Given the description of an element on the screen output the (x, y) to click on. 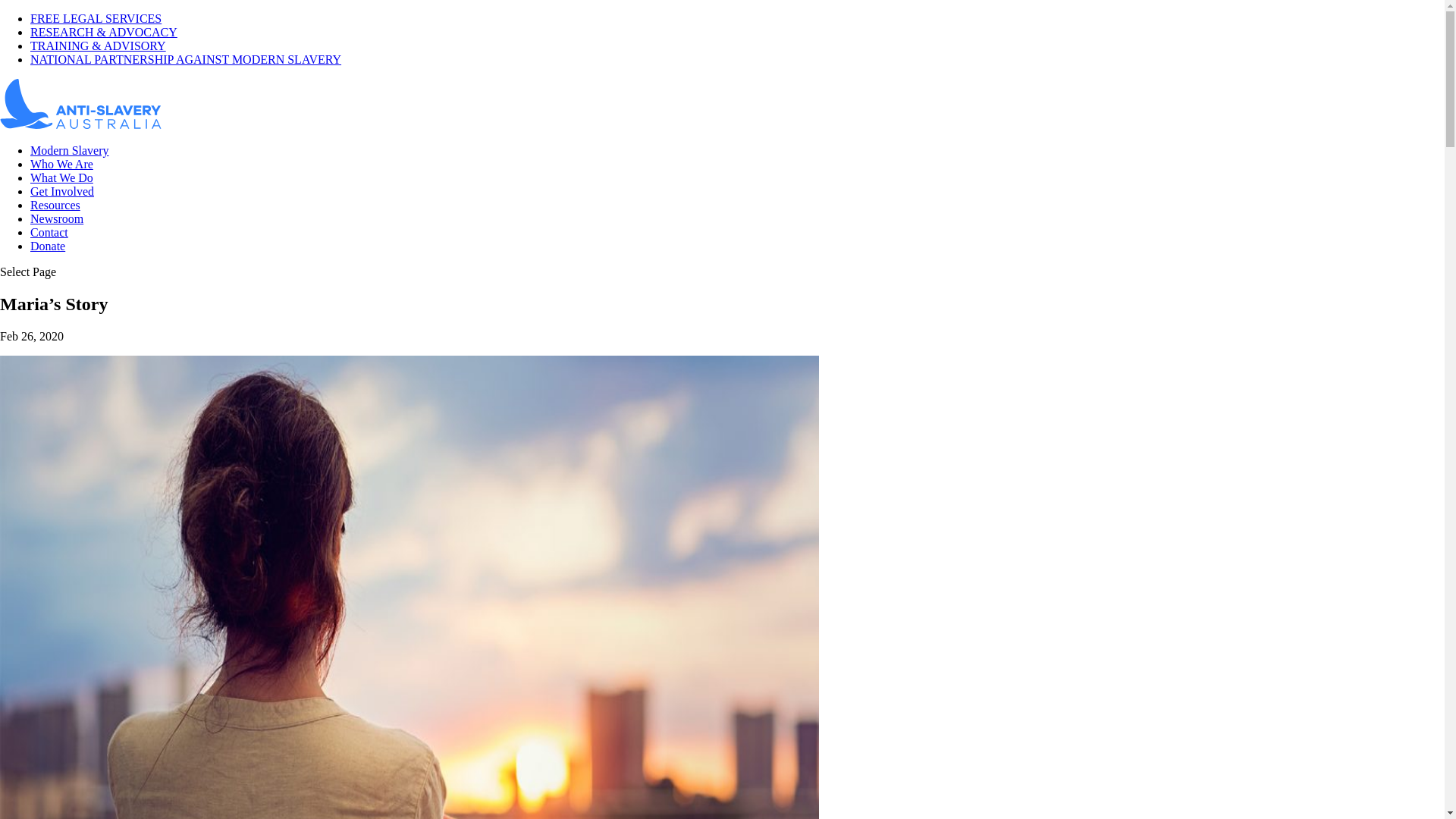
What We Do Element type: text (61, 177)
Get Involved Element type: text (62, 191)
TRAINING & ADVISORY Element type: text (98, 45)
NATIONAL PARTNERSHIP AGAINST MODERN SLAVERY Element type: text (185, 59)
Newsroom Element type: text (56, 218)
Modern Slavery Element type: text (69, 150)
Who We Are Element type: text (61, 163)
Contact Element type: text (49, 231)
FREE LEGAL SERVICES Element type: text (95, 18)
RESEARCH & ADVOCACY Element type: text (103, 31)
Resources Element type: text (55, 204)
Donate Element type: text (47, 245)
